Given the description of an element on the screen output the (x, y) to click on. 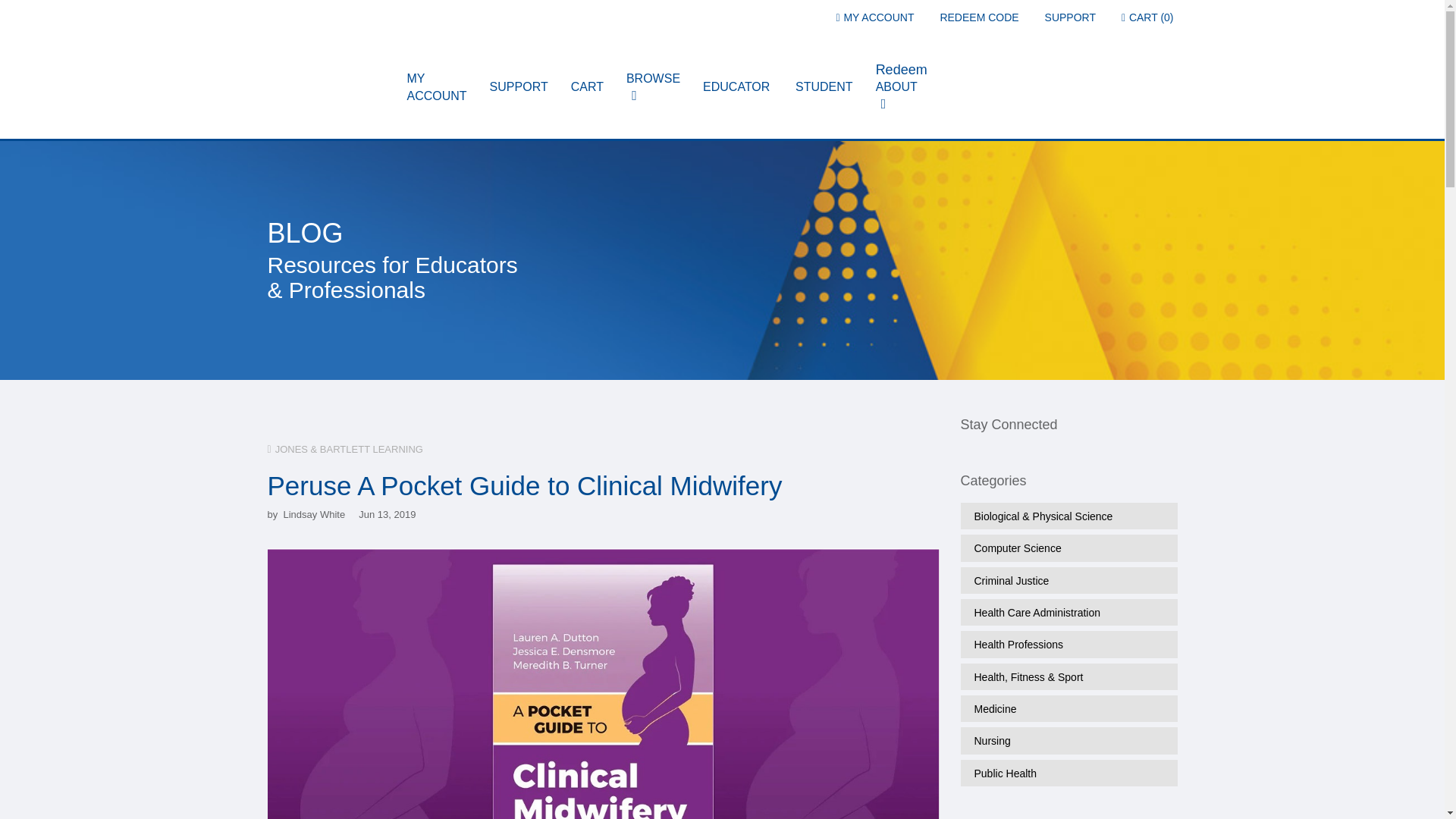
MY ACCOUNT (874, 17)
SUPPORT (1070, 17)
MY ACCOUNT (441, 88)
REDEEM CODE (978, 17)
SUPPORT (523, 88)
BROWSE (657, 88)
